Given the description of an element on the screen output the (x, y) to click on. 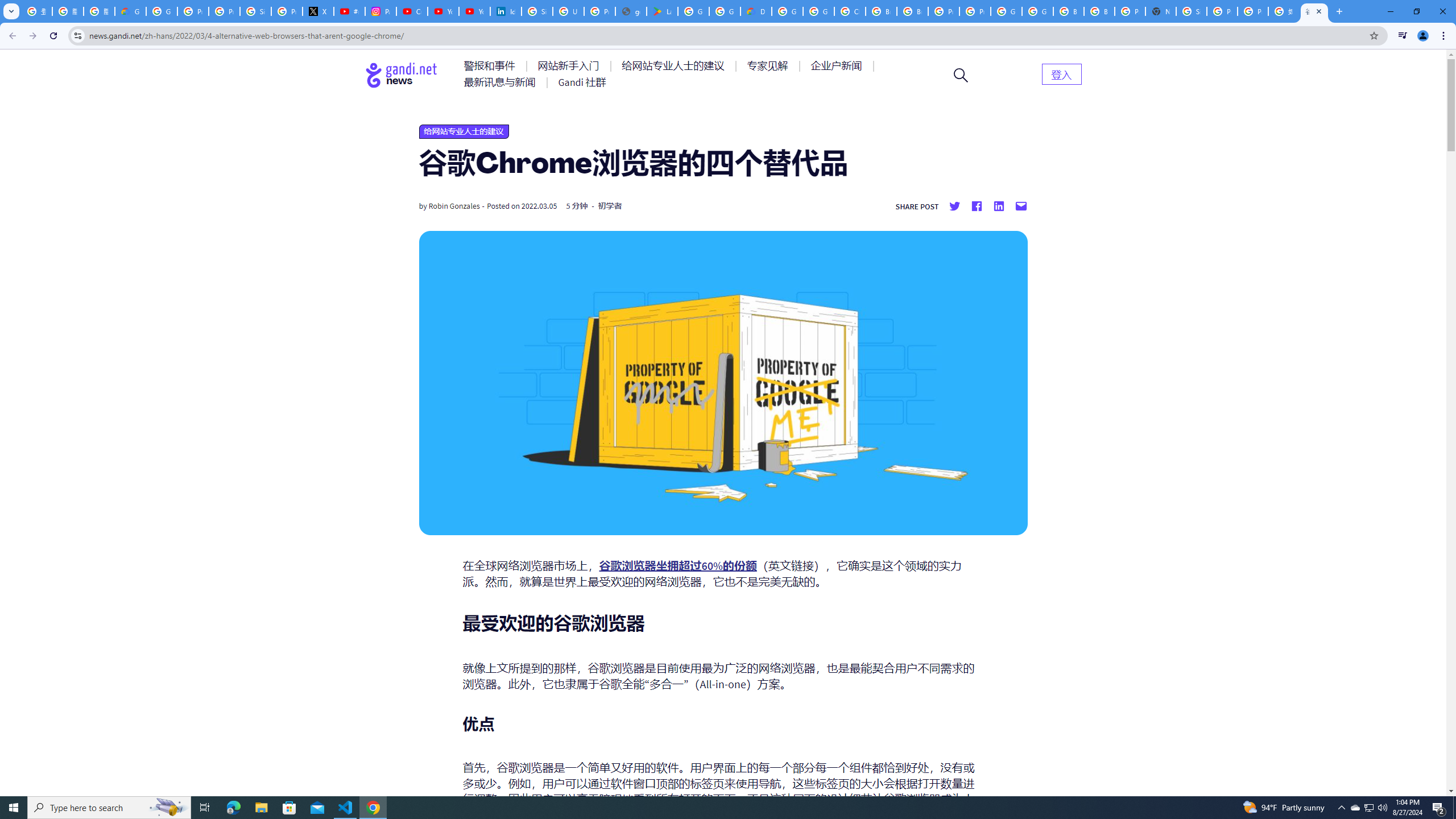
Control your music, videos, and more (1402, 35)
Google Cloud Platform (1037, 11)
Share by mail (1020, 205)
Last Shelter: Survival - Apps on Google Play (662, 11)
Google Cloud Platform (787, 11)
Browse Chrome as a guest - Computer - Google Chrome Help (1098, 11)
AutomationID: menu-item-77762 (570, 65)
